Given the description of an element on the screen output the (x, y) to click on. 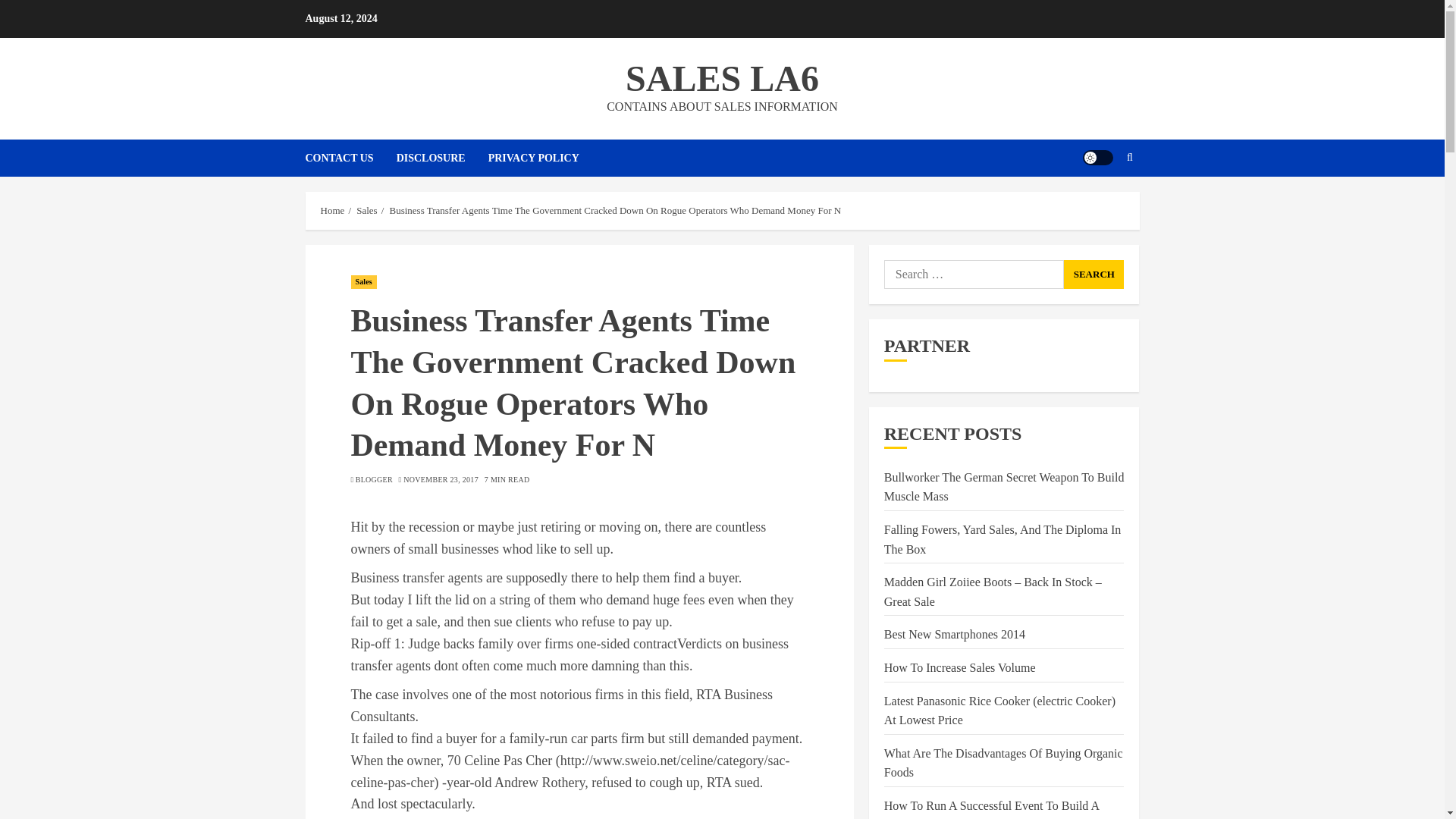
BLOGGER (374, 480)
CONTACT US (350, 157)
Search (1099, 203)
Best New Smartphones 2014 (954, 634)
How To Increase Sales Volume (959, 667)
Sales (366, 210)
Search (1094, 274)
NOVEMBER 23, 2017 (441, 480)
